Given the description of an element on the screen output the (x, y) to click on. 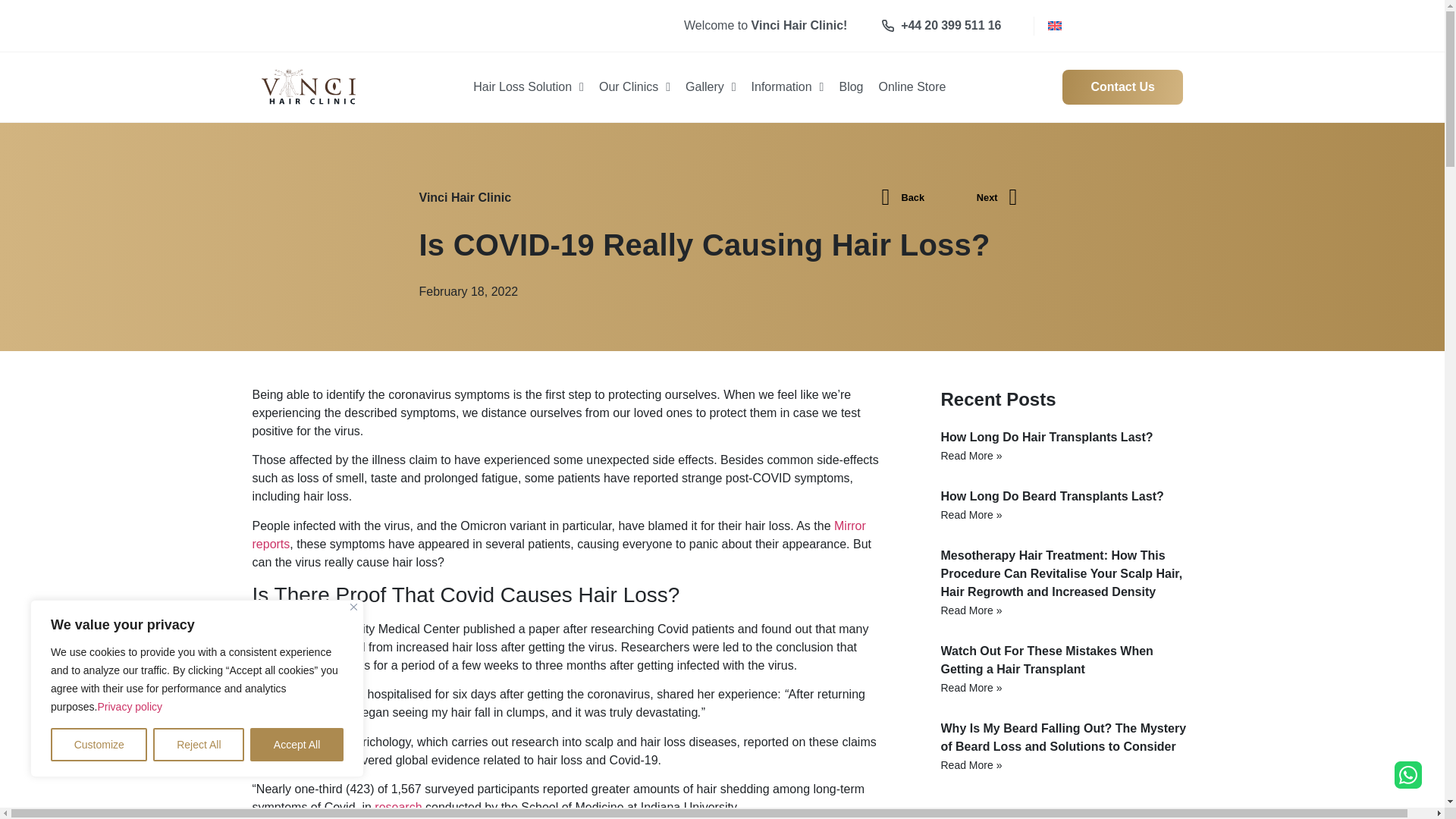
Reject All (198, 744)
Privacy policy (129, 706)
Customize (98, 744)
Hair Loss Solution (528, 87)
Accept All (296, 744)
